Given the description of an element on the screen output the (x, y) to click on. 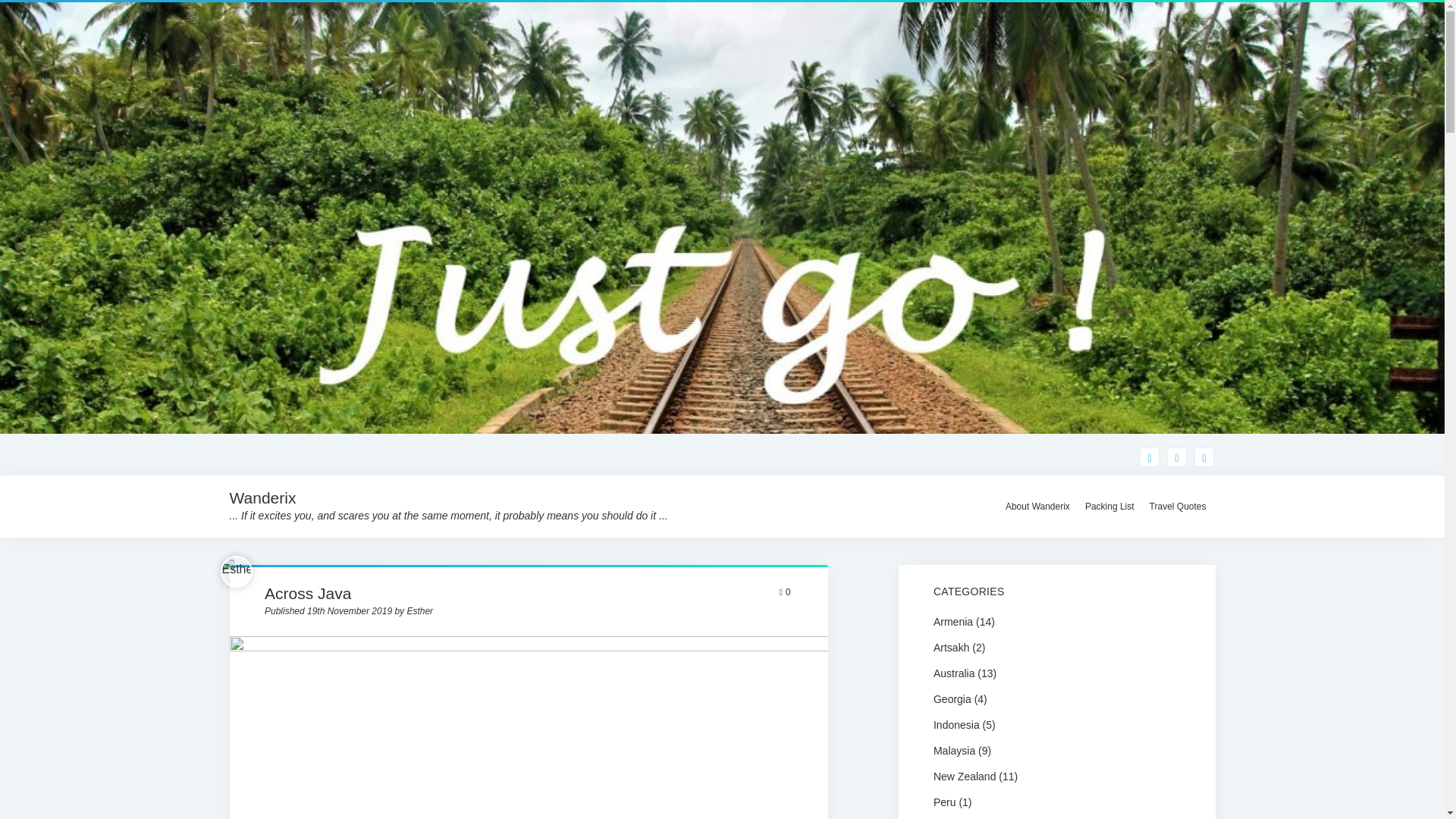
About Wanderix (1036, 506)
Wanderix (261, 497)
Travel Quotes (1177, 506)
Packing List (1108, 506)
